Given the description of an element on the screen output the (x, y) to click on. 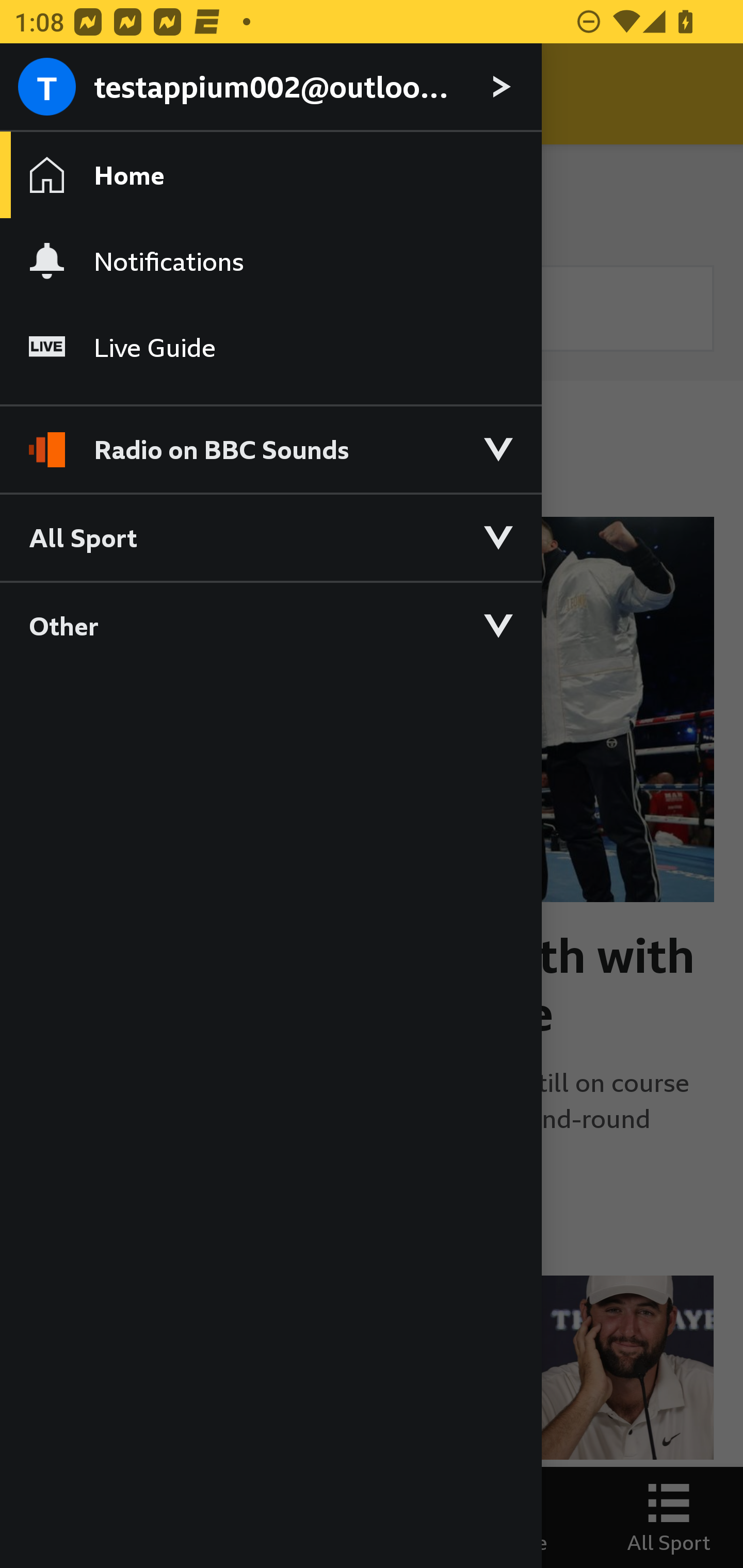
Close Menu (50, 93)
testappium002@outlook.com (270, 87)
Home (270, 174)
Notifications (270, 260)
Live Guide (270, 347)
Radio on BBC Sounds (270, 441)
All Sport (270, 536)
Other (270, 624)
